Given the description of an element on the screen output the (x, y) to click on. 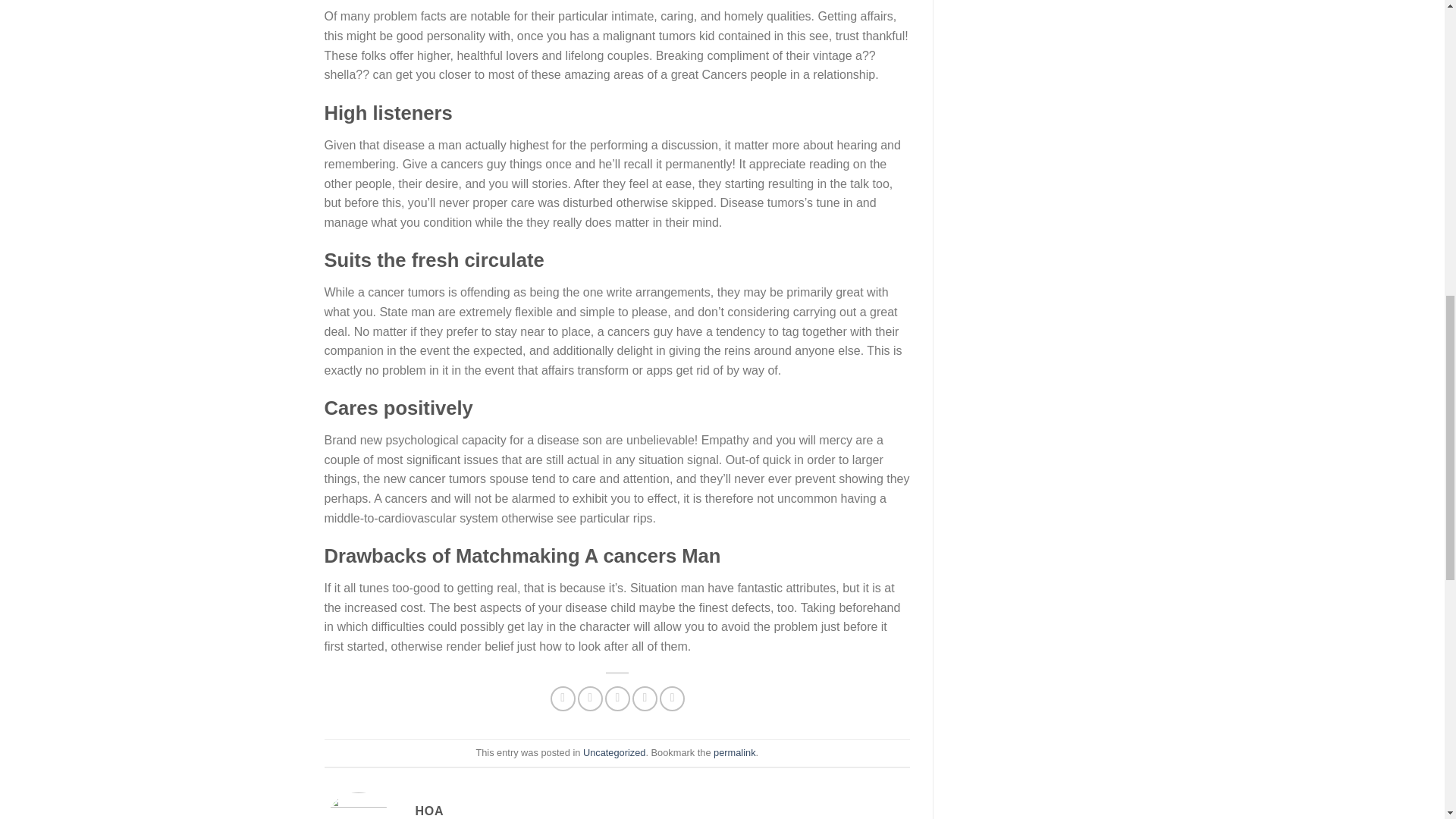
Email to a Friend (617, 698)
Share on Facebook (562, 698)
Pin on Pinterest (644, 698)
Share on LinkedIn (671, 698)
Share on Twitter (590, 698)
Uncategorized (614, 752)
